Given the description of an element on the screen output the (x, y) to click on. 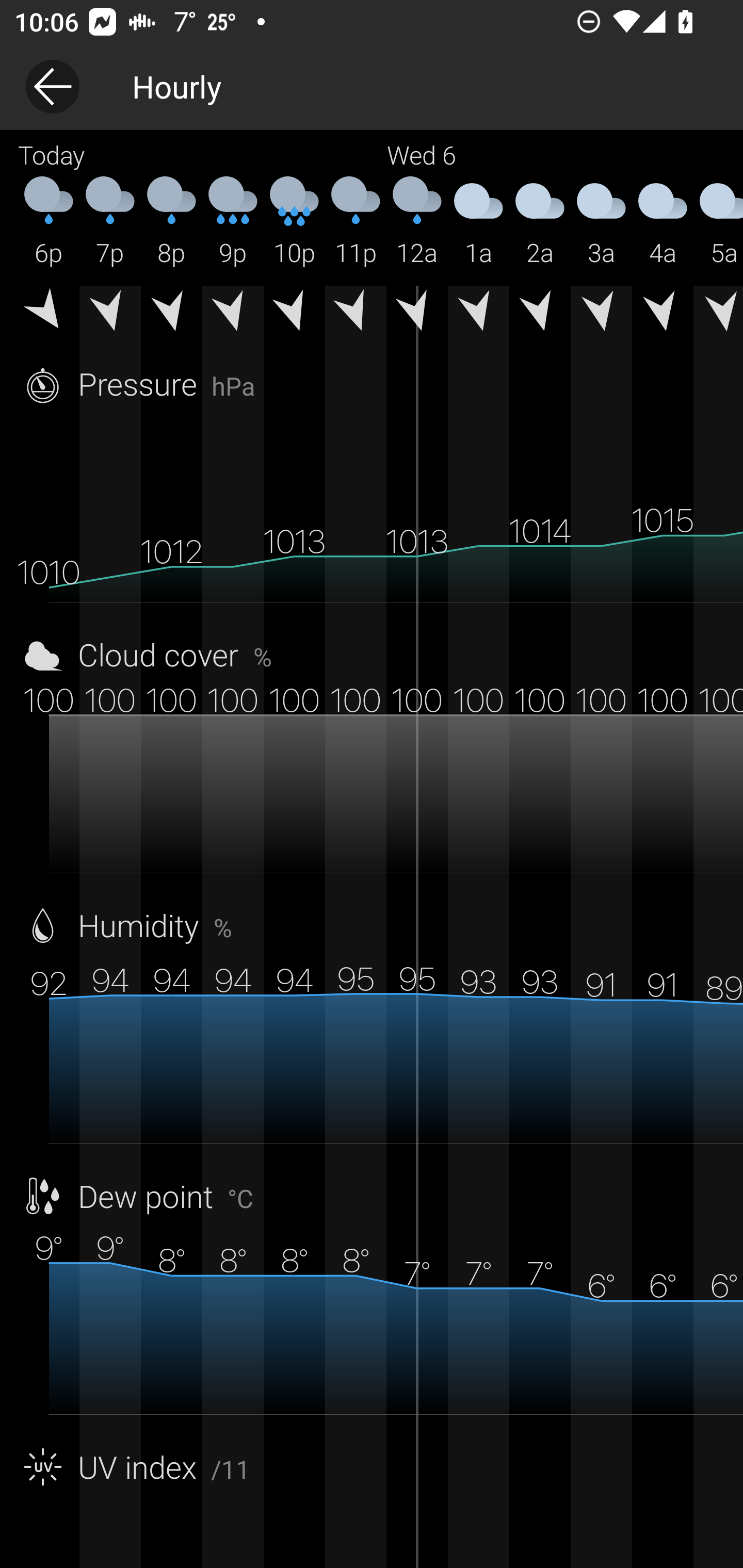
6p (48, 222)
7p (110, 222)
8p (171, 222)
9p (232, 222)
10p (294, 222)
11p (355, 222)
12a (417, 222)
1a (478, 222)
2a (539, 222)
3a (601, 222)
4a (662, 222)
5a (718, 222)
 (48, 313)
 (110, 313)
 (171, 313)
 (232, 313)
 (294, 313)
 (355, 313)
 (417, 313)
 (478, 313)
 (539, 313)
 (601, 313)
 (662, 313)
 (718, 313)
